Given the description of an element on the screen output the (x, y) to click on. 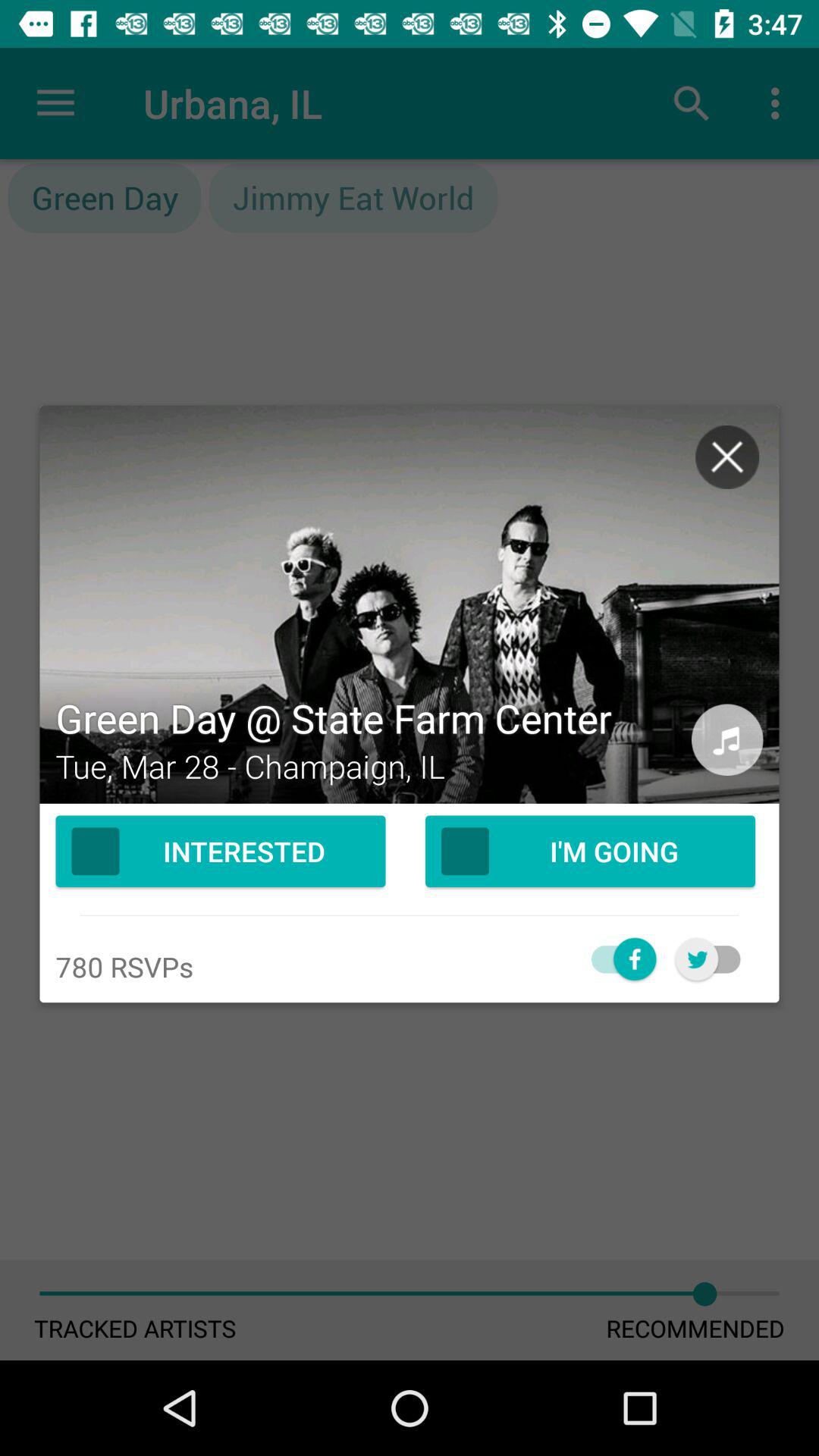
facebook toggle (615, 959)
